Given the description of an element on the screen output the (x, y) to click on. 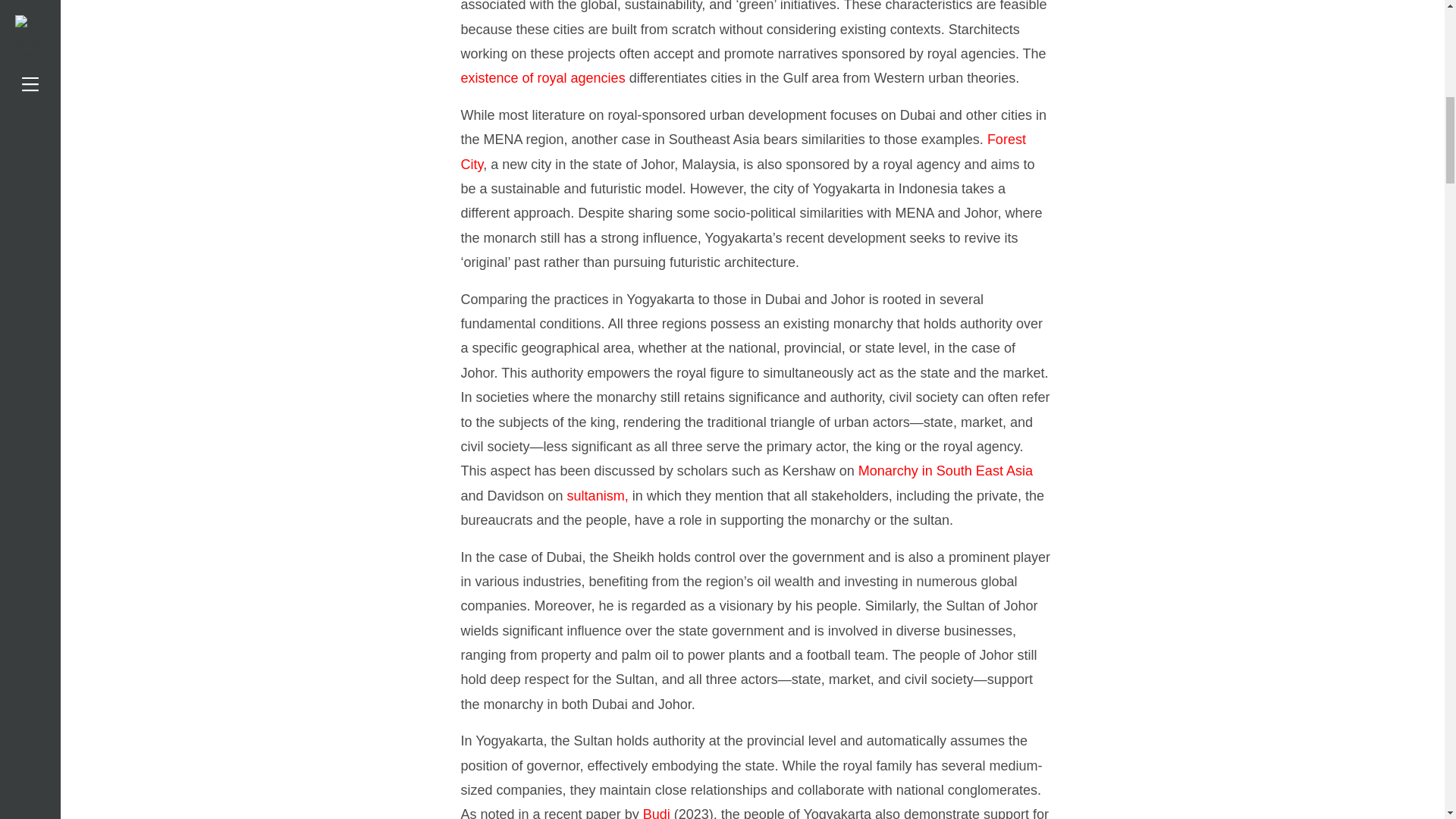
sultanism, (597, 495)
Budi (656, 812)
Monarchy in South East Asia (945, 470)
existence of royal agencies (543, 77)
Forest City (743, 151)
